Given the description of an element on the screen output the (x, y) to click on. 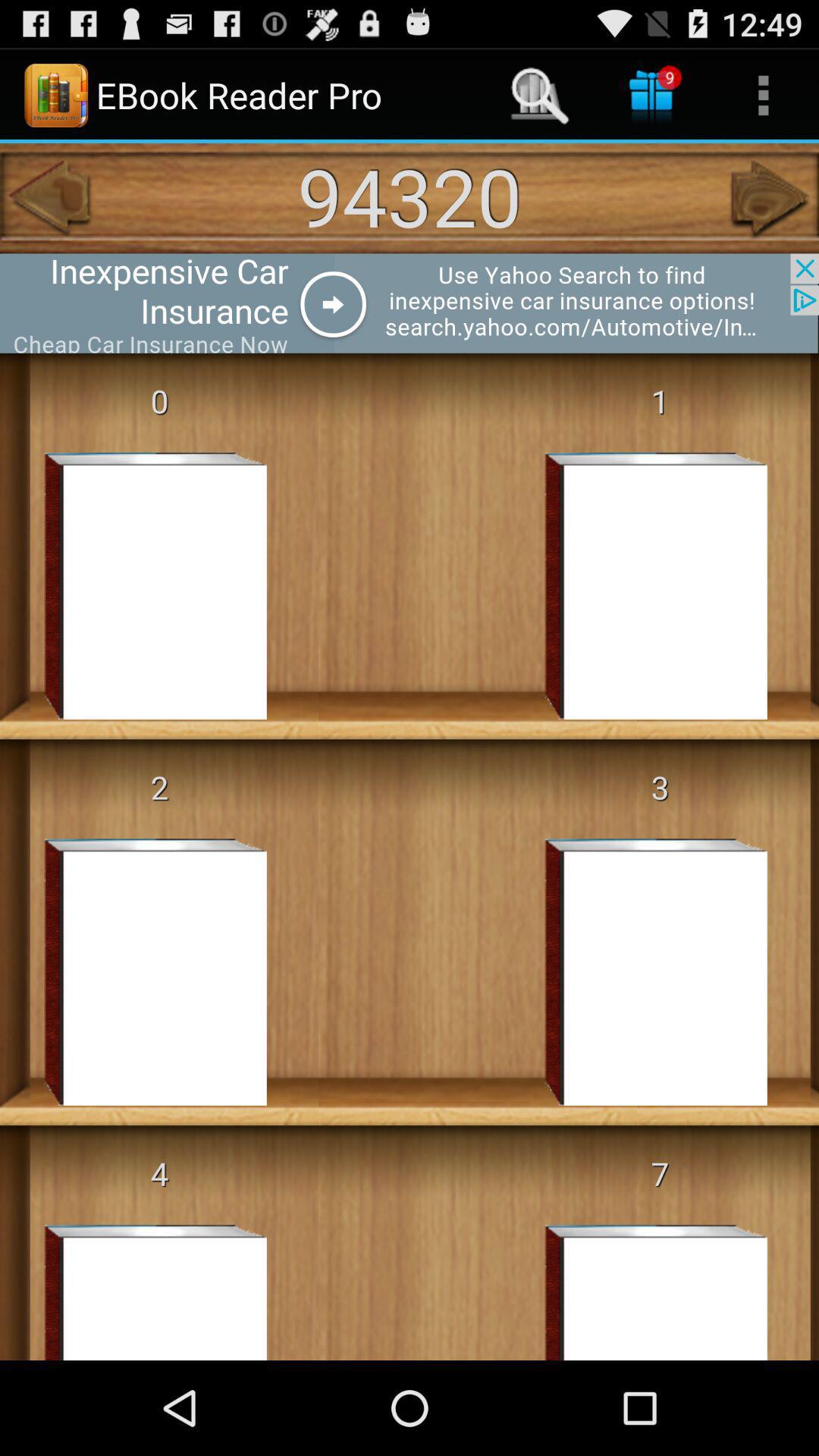
turn off icon above 0 icon (409, 303)
